Given the description of an element on the screen output the (x, y) to click on. 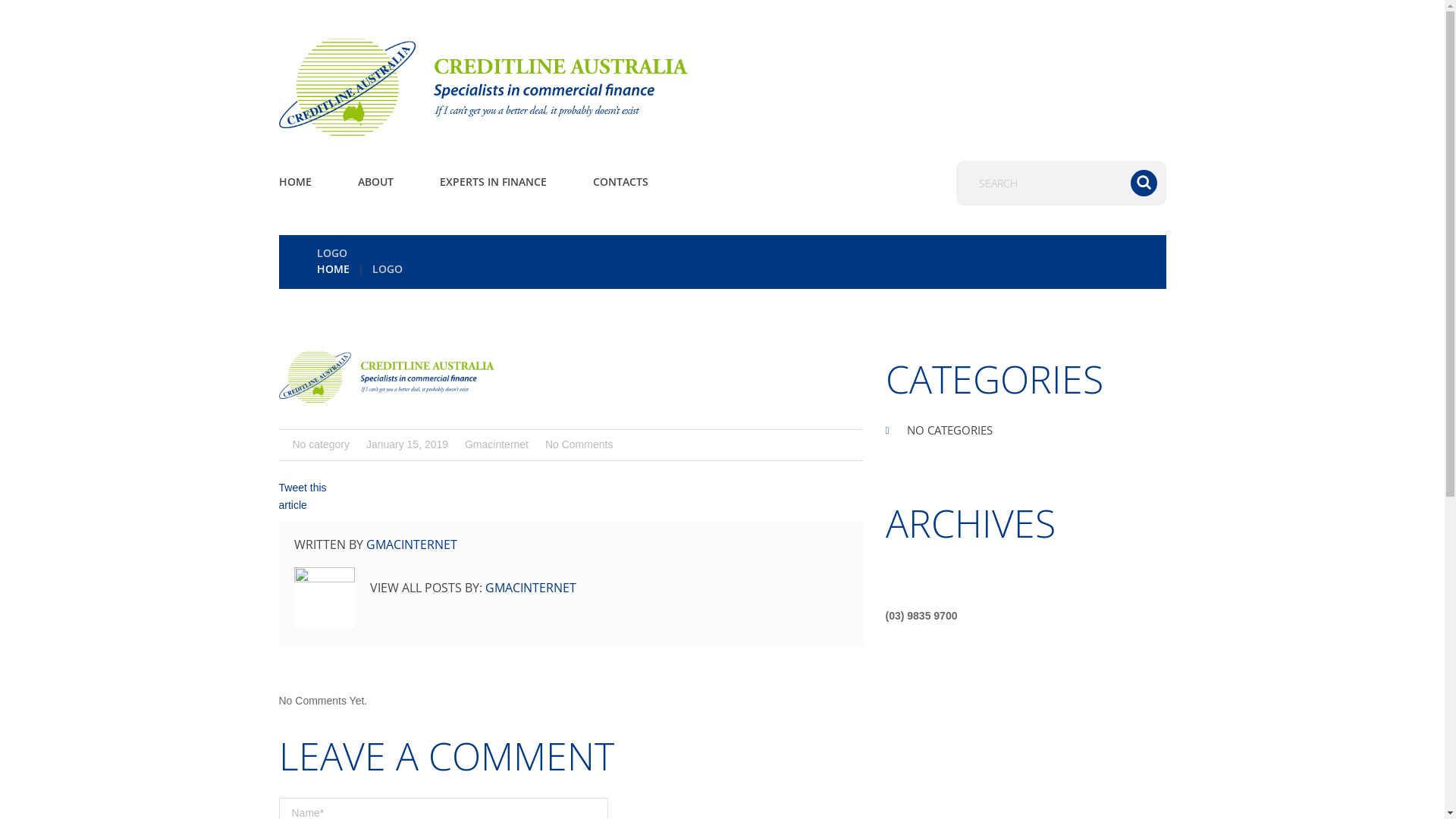
Gmacinternet Element type: text (496, 444)
HOME Element type: text (295, 181)
ABOUT Element type: text (375, 181)
HOME Element type: text (332, 268)
No Comments Element type: text (578, 444)
Specialists In Commercial Finance Element type: hover (495, 86)
GMACINTERNET Element type: text (530, 587)
Tweet this article Element type: text (302, 496)
CONTACTS Element type: text (620, 181)
EXPERTS IN FINANCE Element type: text (492, 181)
Go Element type: text (1142, 182)
GMACINTERNET Element type: text (410, 544)
